Given the description of an element on the screen output the (x, y) to click on. 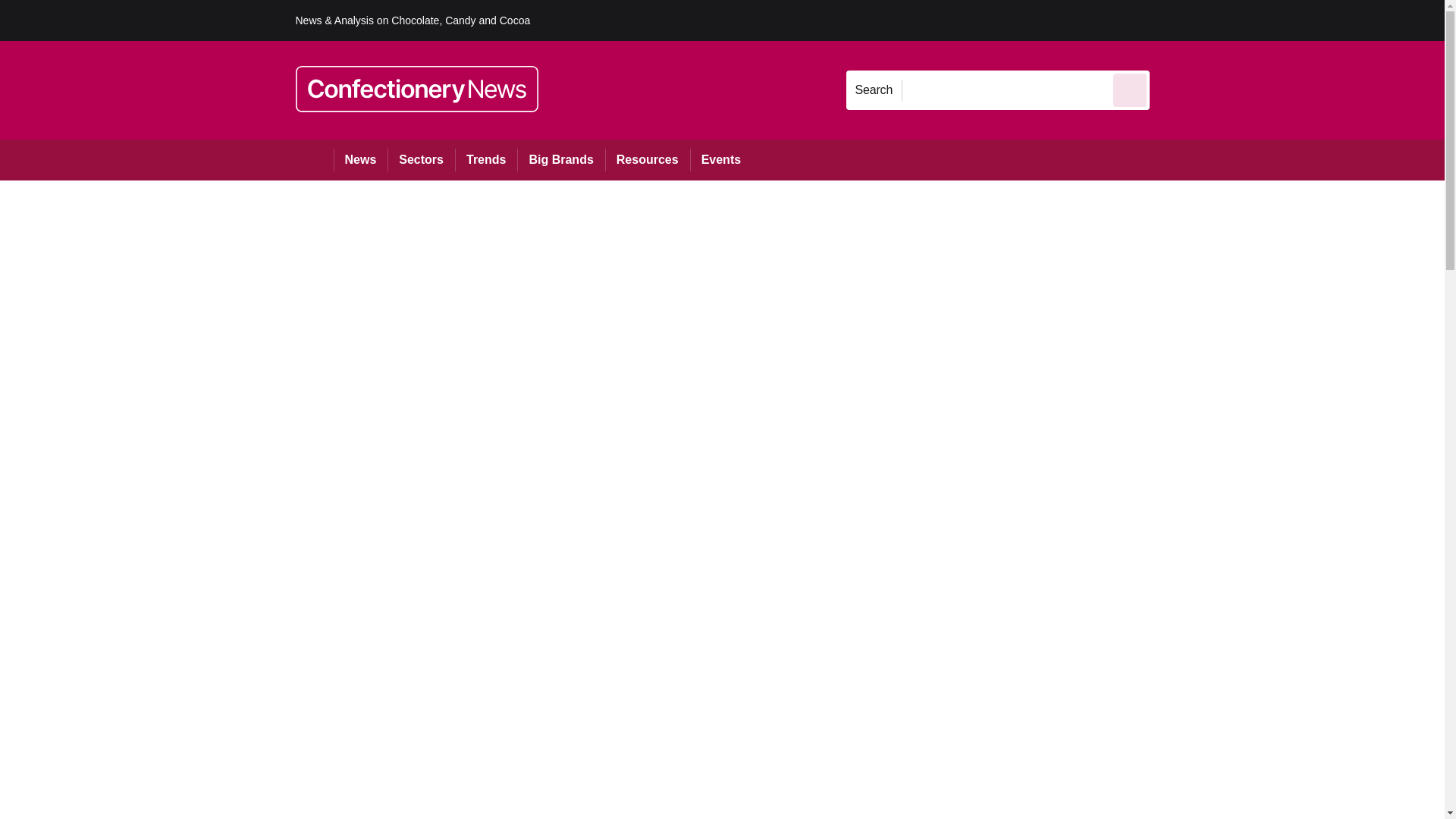
News (360, 159)
Trends (485, 159)
Sectors (420, 159)
Sign out (1174, 20)
Send (1129, 90)
Send (1129, 89)
Home (313, 159)
ConfectioneryNews (416, 89)
REGISTER (1250, 20)
Home (314, 159)
Sign in (1171, 20)
My account (1256, 20)
